Given the description of an element on the screen output the (x, y) to click on. 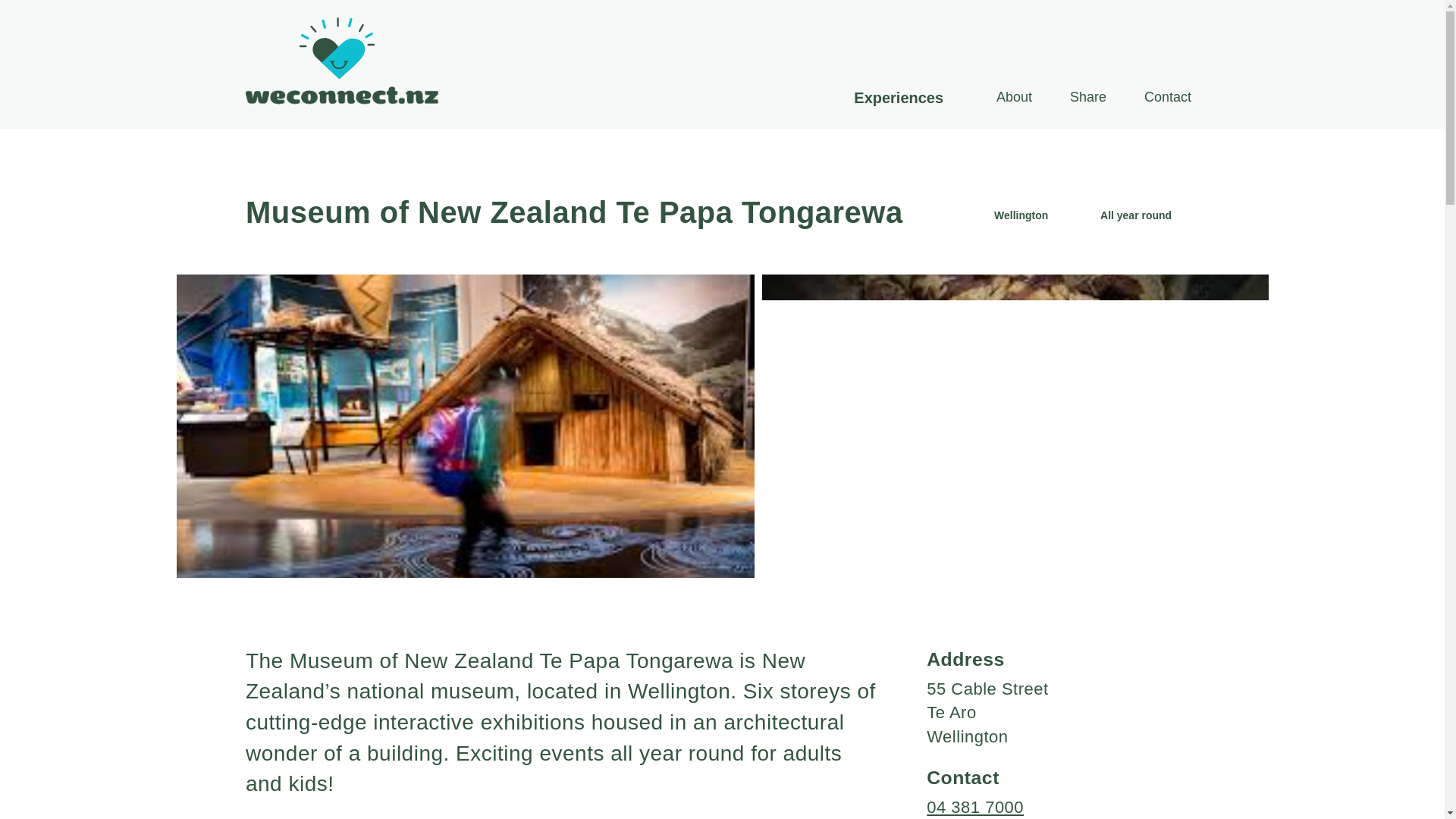
04 381 7000 (974, 806)
Share (1087, 97)
Contact (1167, 97)
About (1013, 97)
Experiences (897, 97)
